Given the description of an element on the screen output the (x, y) to click on. 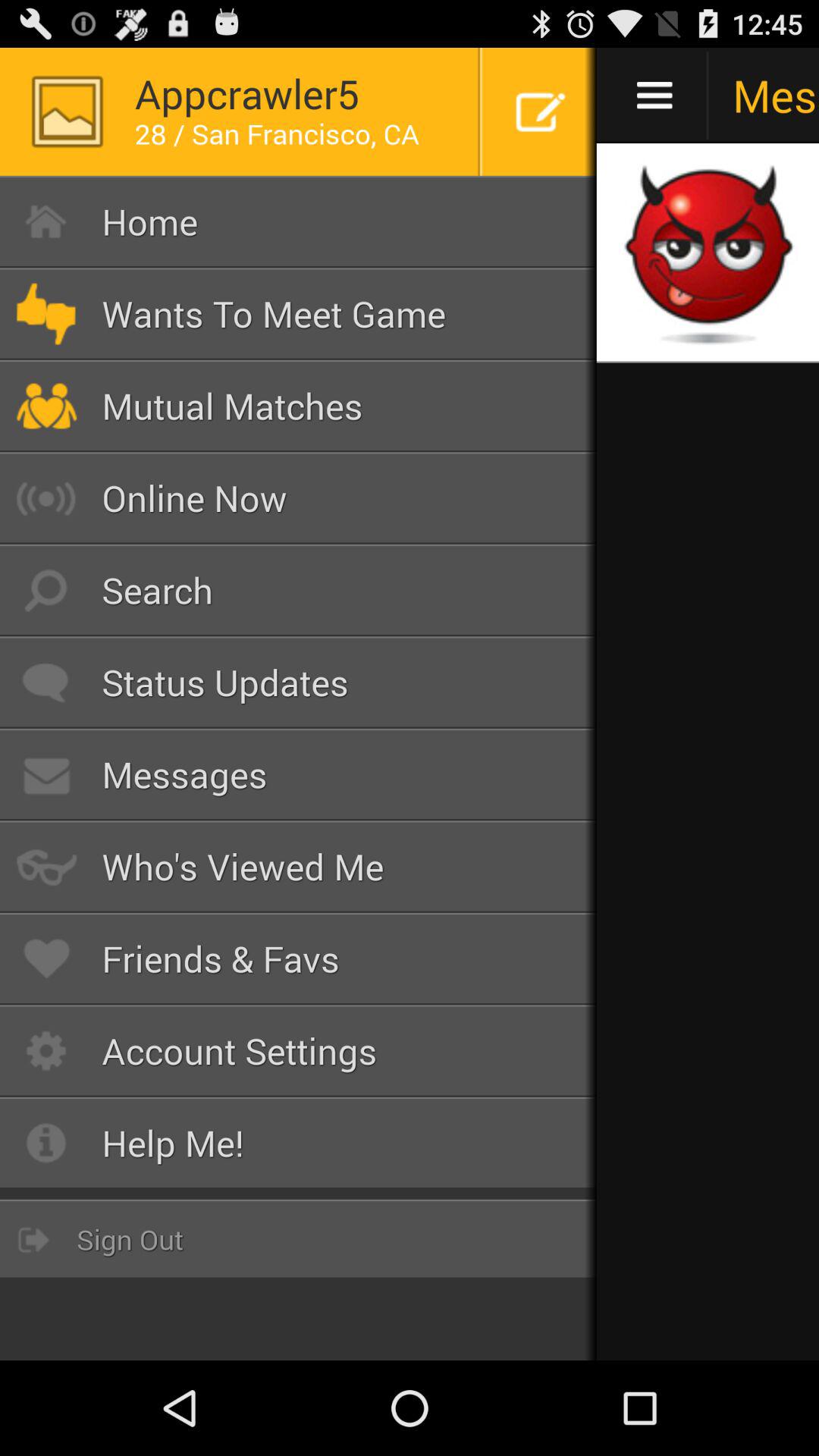
launch icon above help me! (298, 1050)
